Given the description of an element on the screen output the (x, y) to click on. 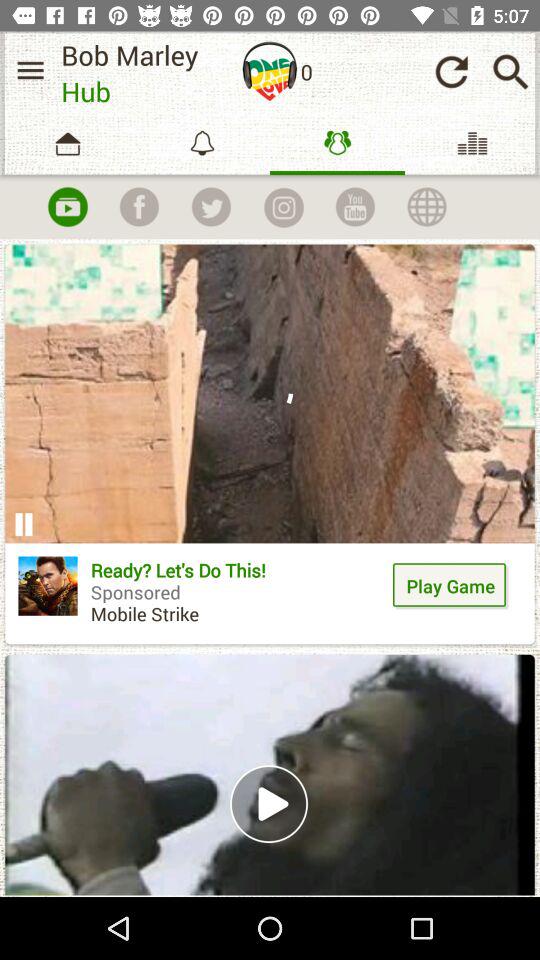
play video (269, 774)
